Given the description of an element on the screen output the (x, y) to click on. 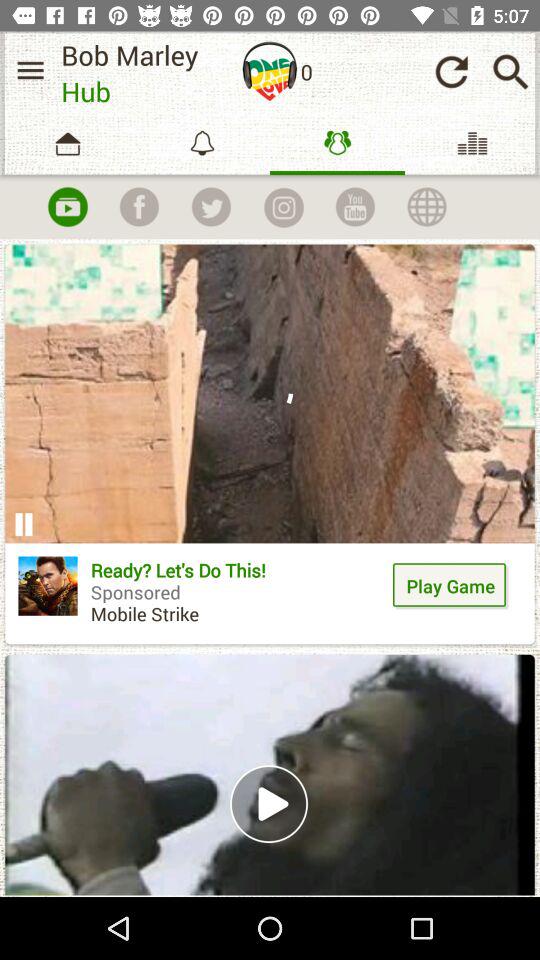
play video (269, 774)
